Given the description of an element on the screen output the (x, y) to click on. 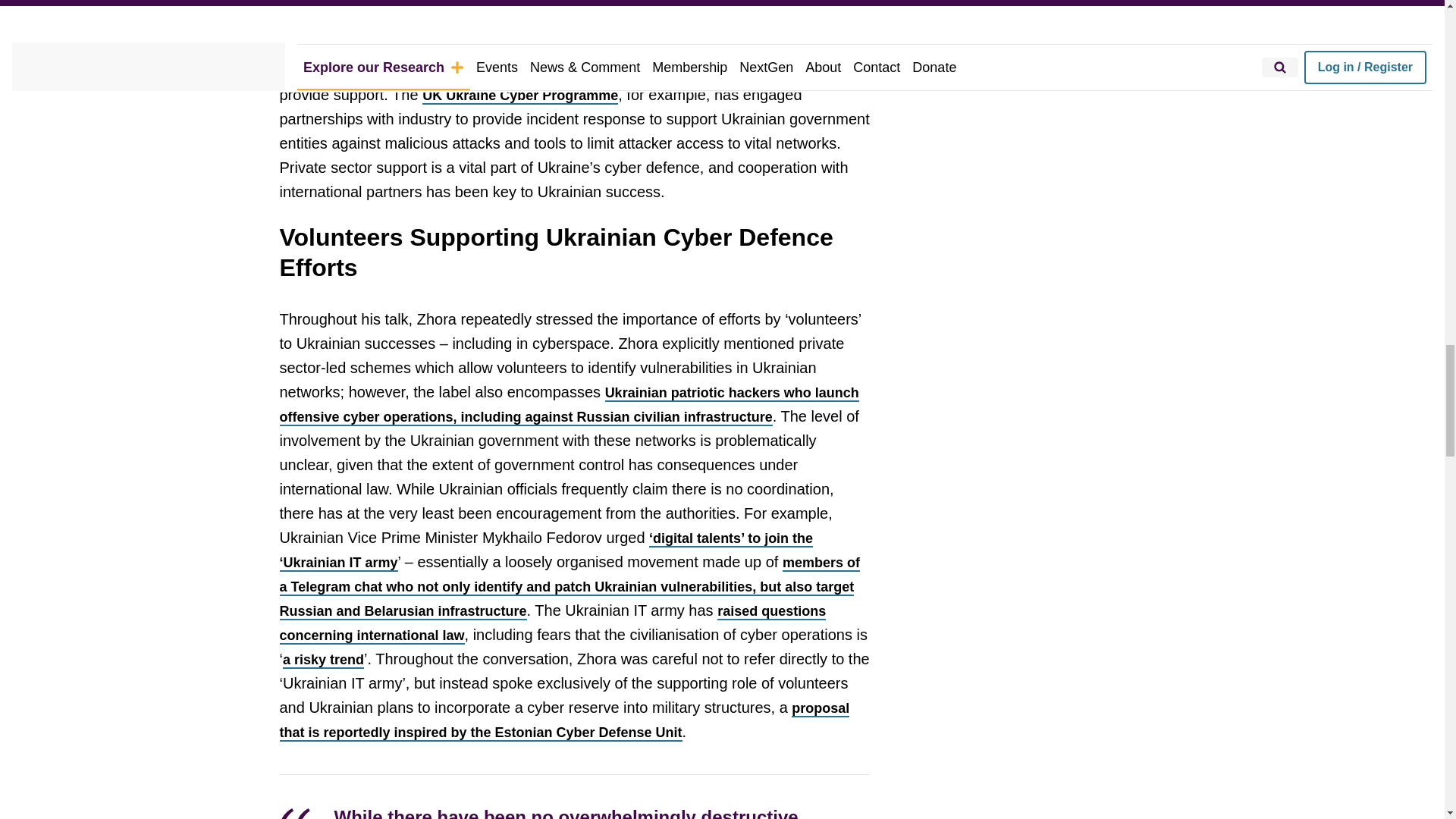
Google (603, 23)
Microsoft (541, 23)
raised questions concerning international law (552, 623)
Amazon (688, 23)
UK Ukraine Cyber Programme (519, 95)
